Given the description of an element on the screen output the (x, y) to click on. 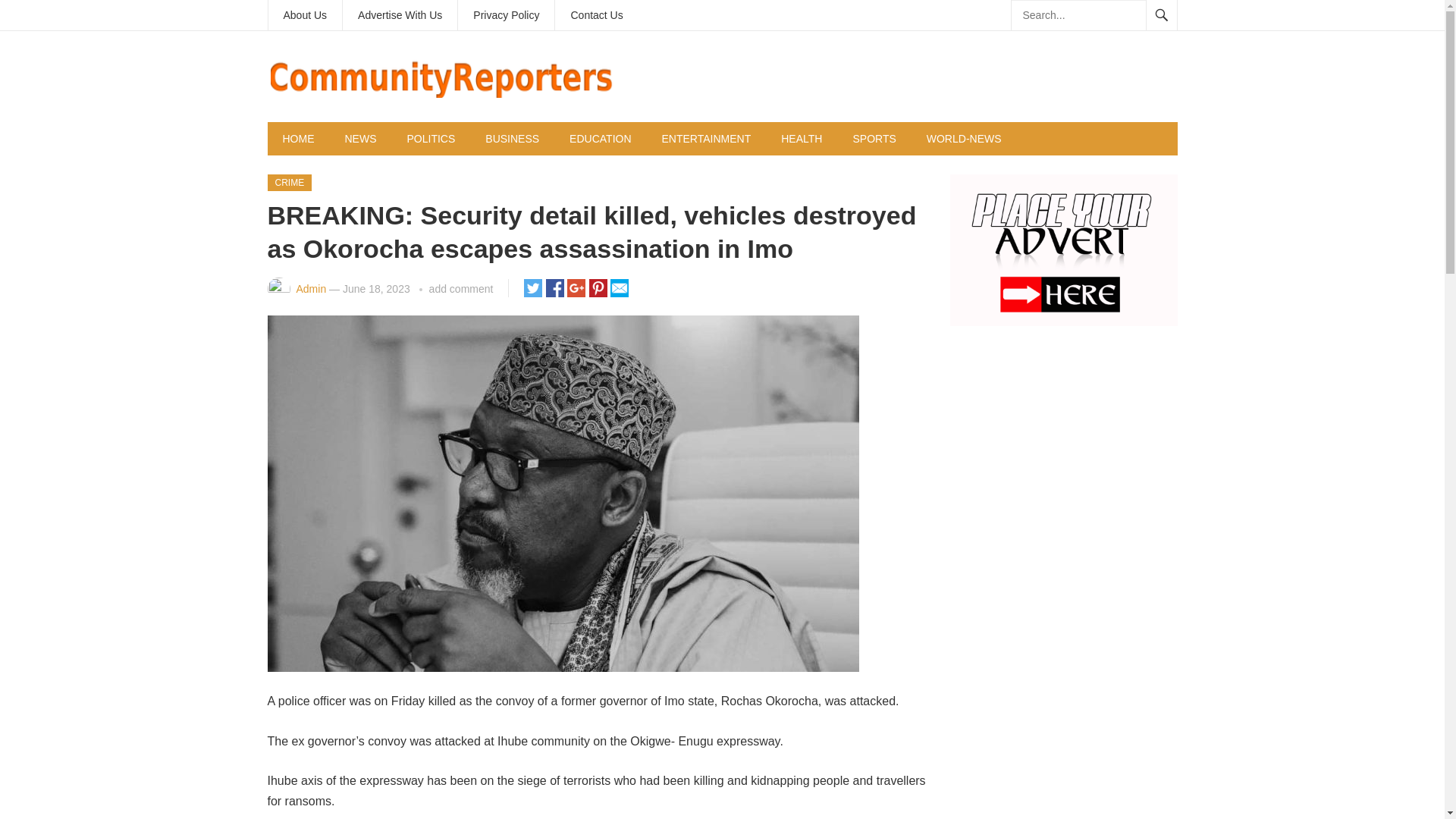
BUSINESS (512, 138)
Contact Us (595, 15)
EDUCATION (600, 138)
WORLD-NEWS (963, 138)
Advertise With Us (399, 15)
add comment (461, 288)
HEALTH (801, 138)
SPORTS (874, 138)
About Us (304, 15)
ENTERTAINMENT (706, 138)
NEWS (360, 138)
View all posts in Crime (288, 182)
Admin (310, 288)
POLITICS (430, 138)
CRIME (288, 182)
